Given the description of an element on the screen output the (x, y) to click on. 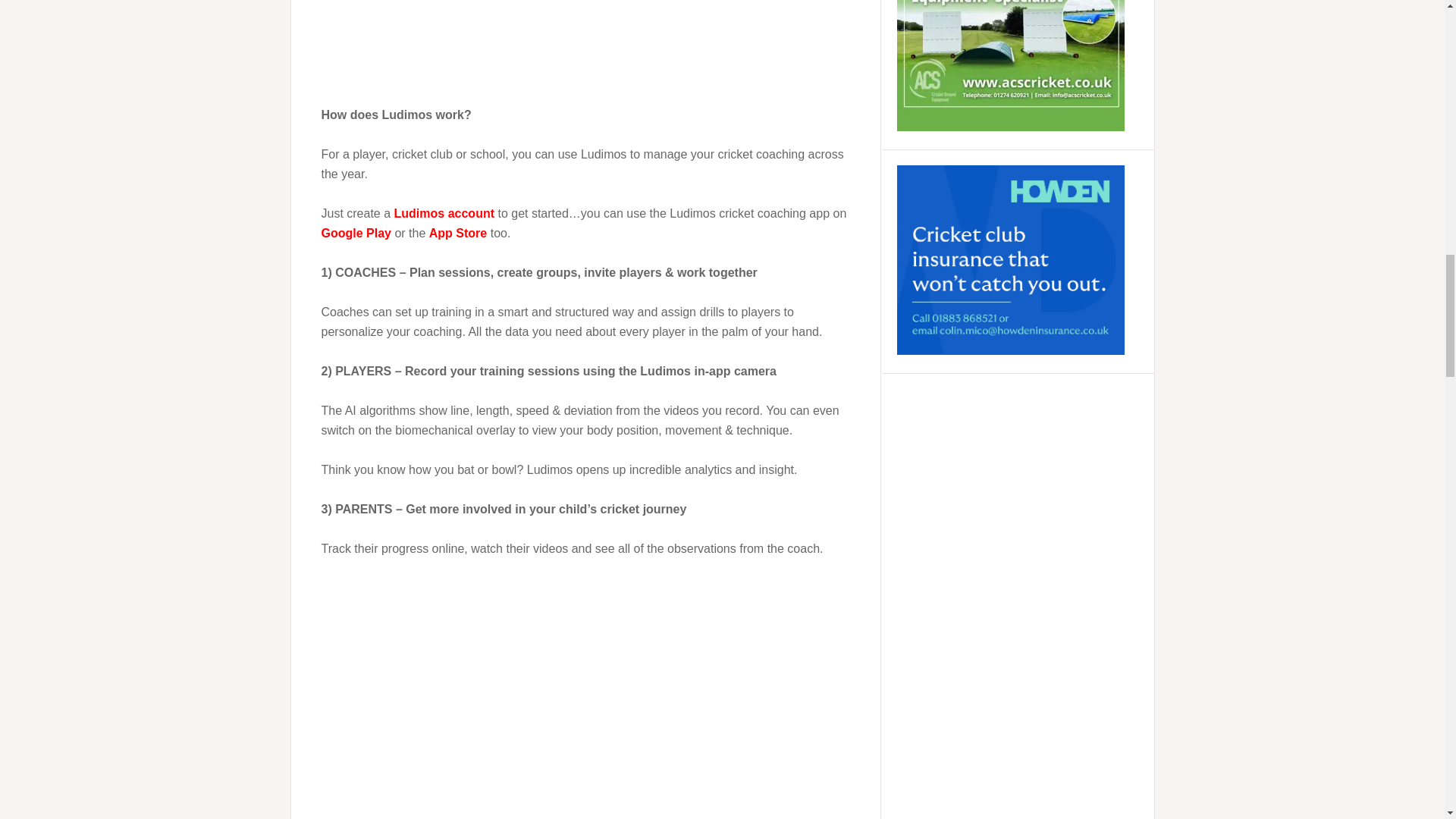
App Store (457, 232)
Ludimos account (444, 213)
Google Play (356, 232)
